Given the description of an element on the screen output the (x, y) to click on. 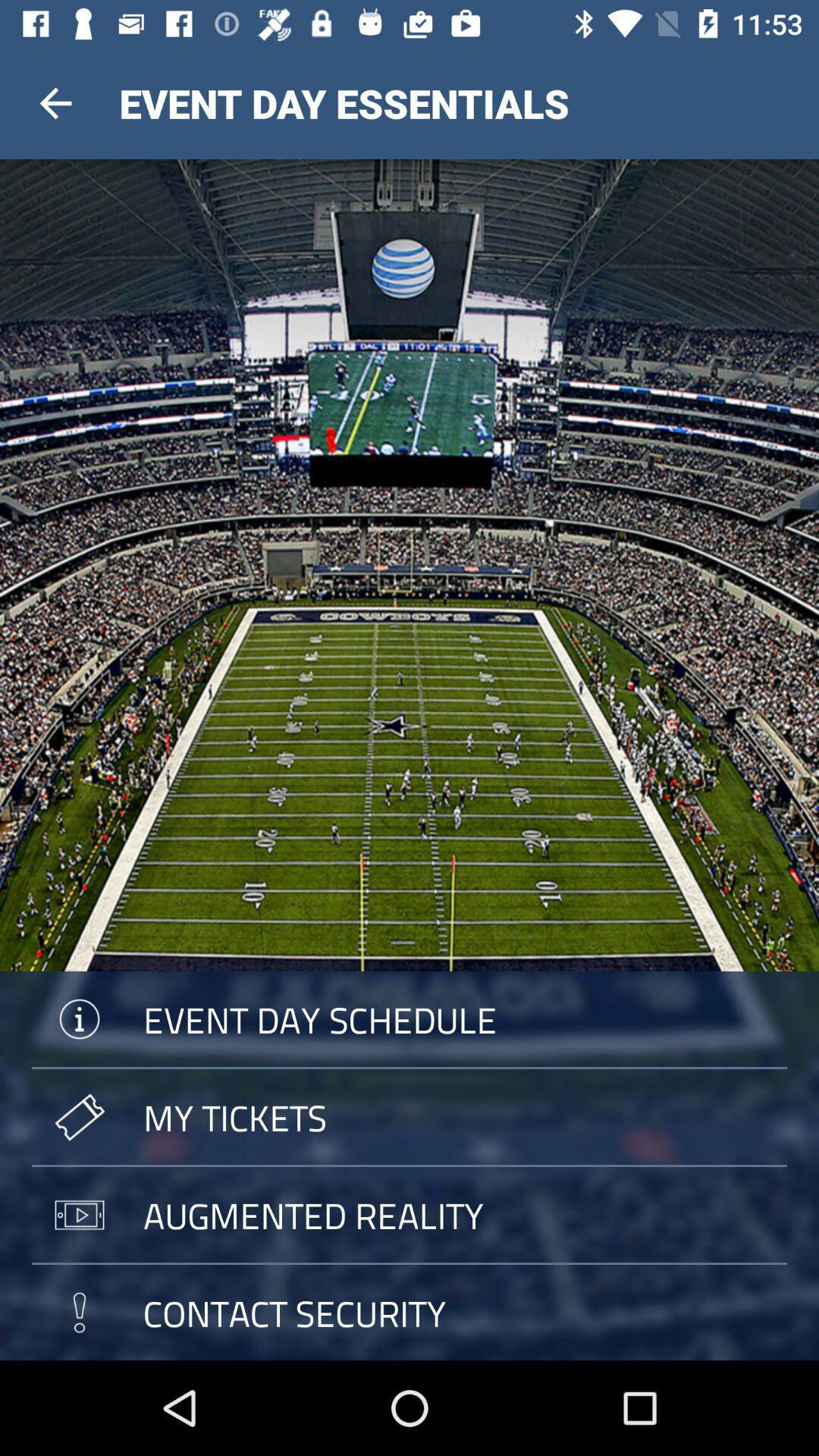
open icon at the top left corner (55, 103)
